Given the description of an element on the screen output the (x, y) to click on. 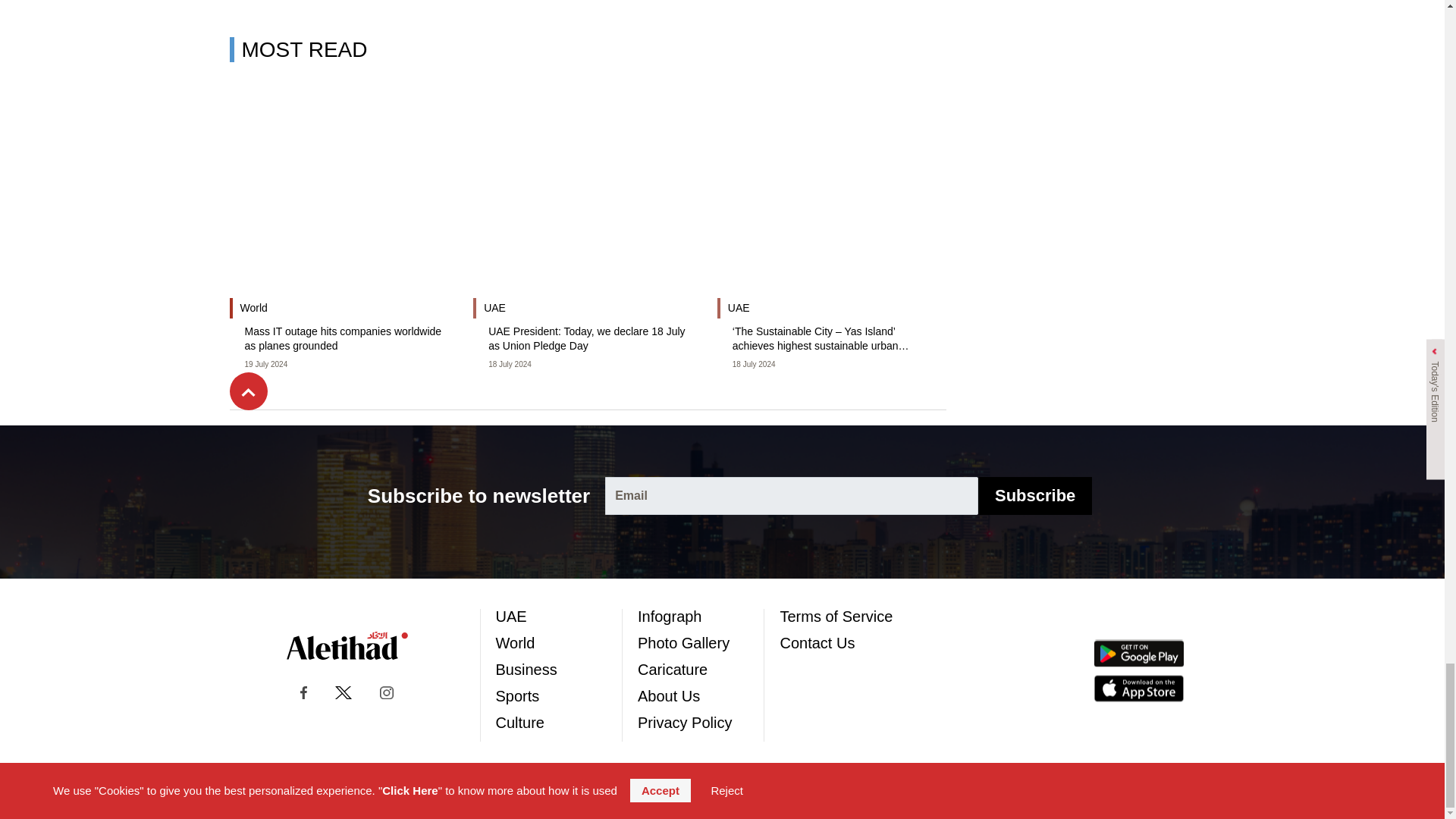
Mass IT outage hits companies worldwide as planes grounded (343, 338)
UAE (511, 616)
UAE President: Today, we declare 18 July as Union Pledge Day (587, 338)
World (515, 642)
Business (526, 669)
